Given the description of an element on the screen output the (x, y) to click on. 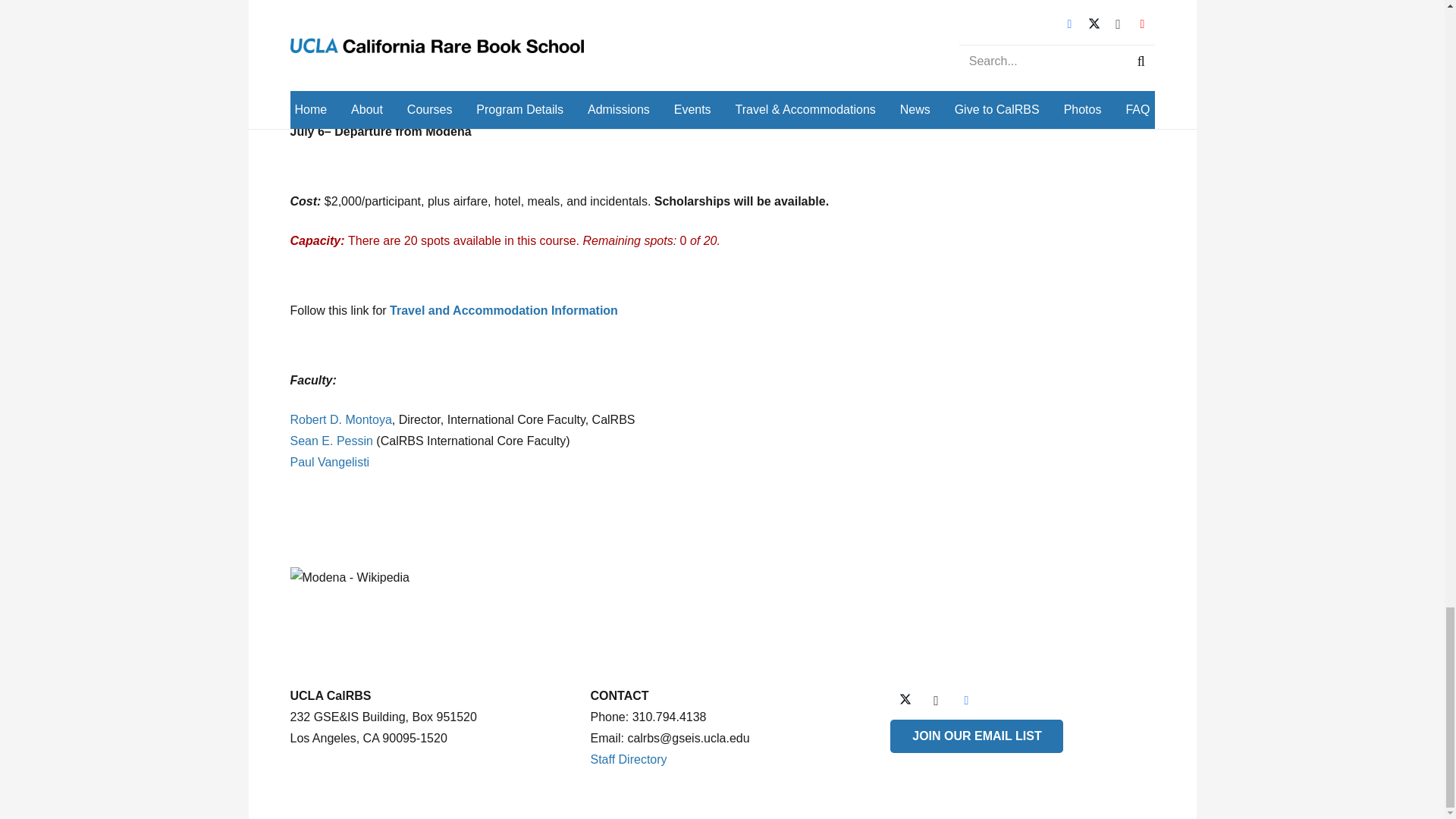
Instagram (935, 700)
Twitter (904, 700)
Facebook (965, 700)
